Given the description of an element on the screen output the (x, y) to click on. 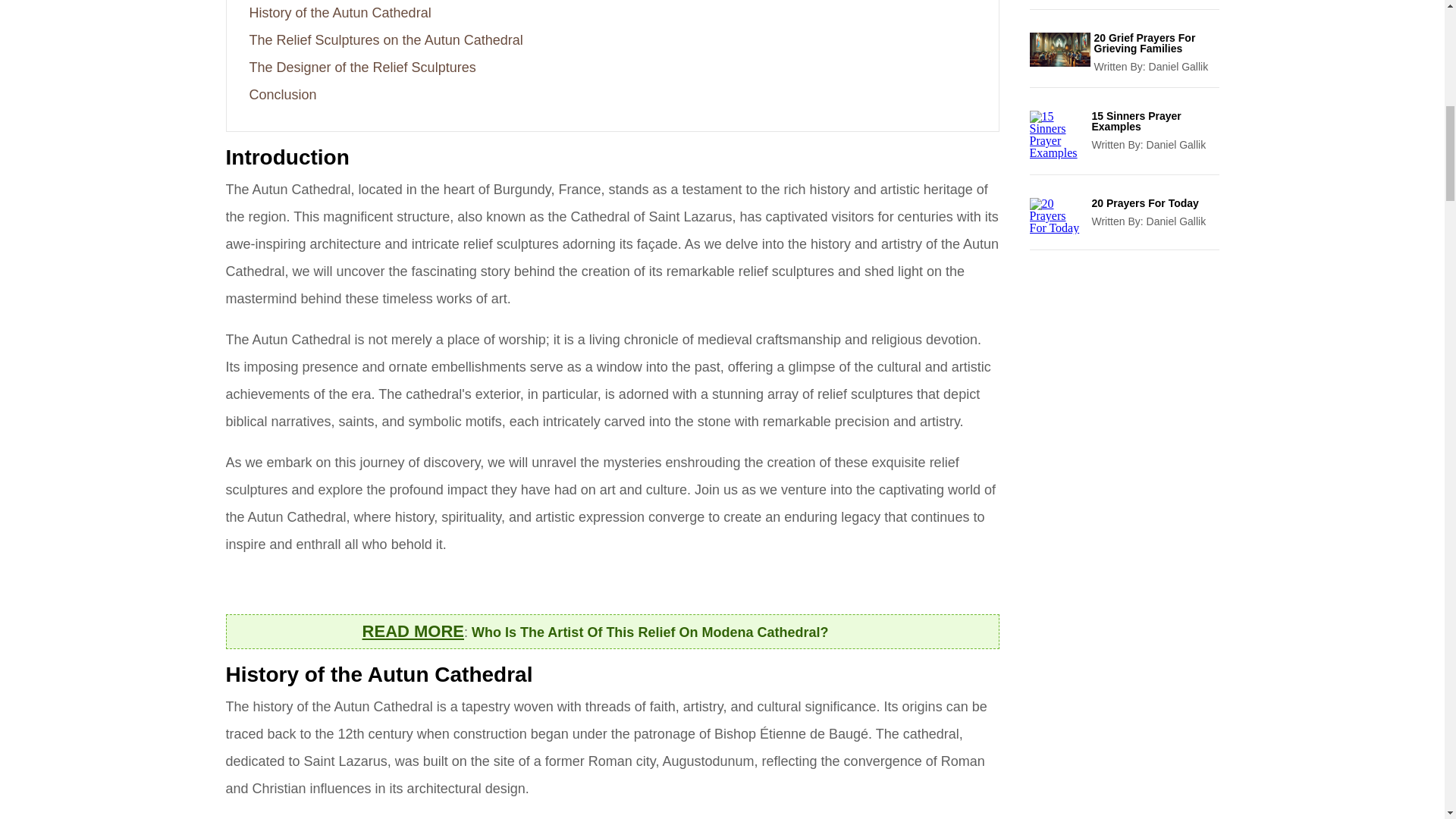
Conclusion (281, 94)
The Relief Sculptures on the Autun Cathedral (385, 39)
History of the Autun Cathedral (339, 12)
The Designer of the Relief Sculptures (362, 67)
